Given the description of an element on the screen output the (x, y) to click on. 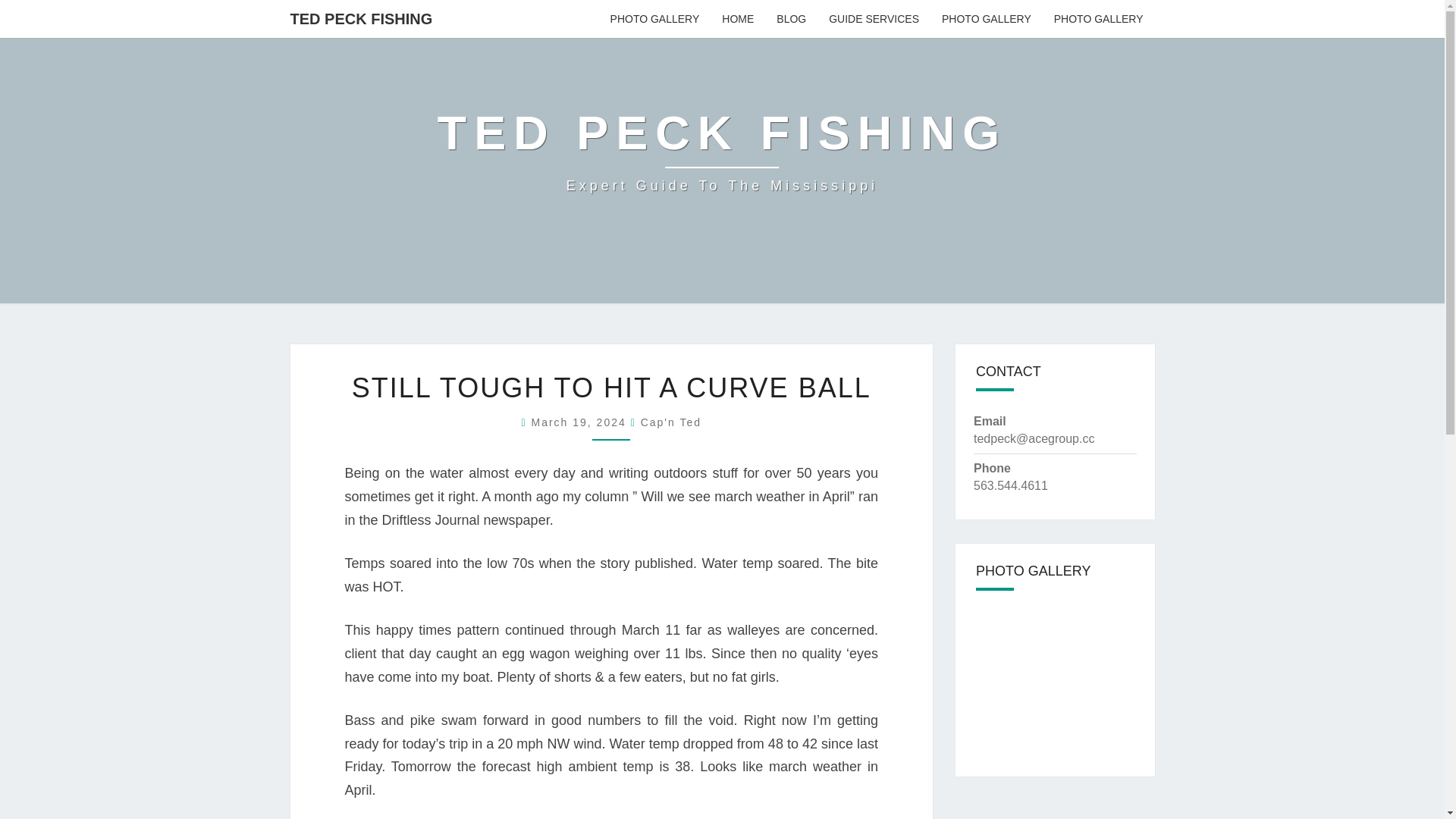
PHOTO GALLERY (1098, 18)
Photo Gallery (654, 18)
PHOTO GALLERY (986, 18)
7:24 am (580, 422)
Cap'N Ted (670, 422)
Photo Gallery (1098, 18)
GUIDE SERVICES (873, 18)
PHOTO GALLERY (654, 18)
HOME (737, 18)
Photo Gallery (986, 18)
BLOG (790, 18)
Blog (790, 18)
Ted Peck Fishing (722, 151)
March 19, 2024 (580, 422)
Home (737, 18)
